Given the description of an element on the screen output the (x, y) to click on. 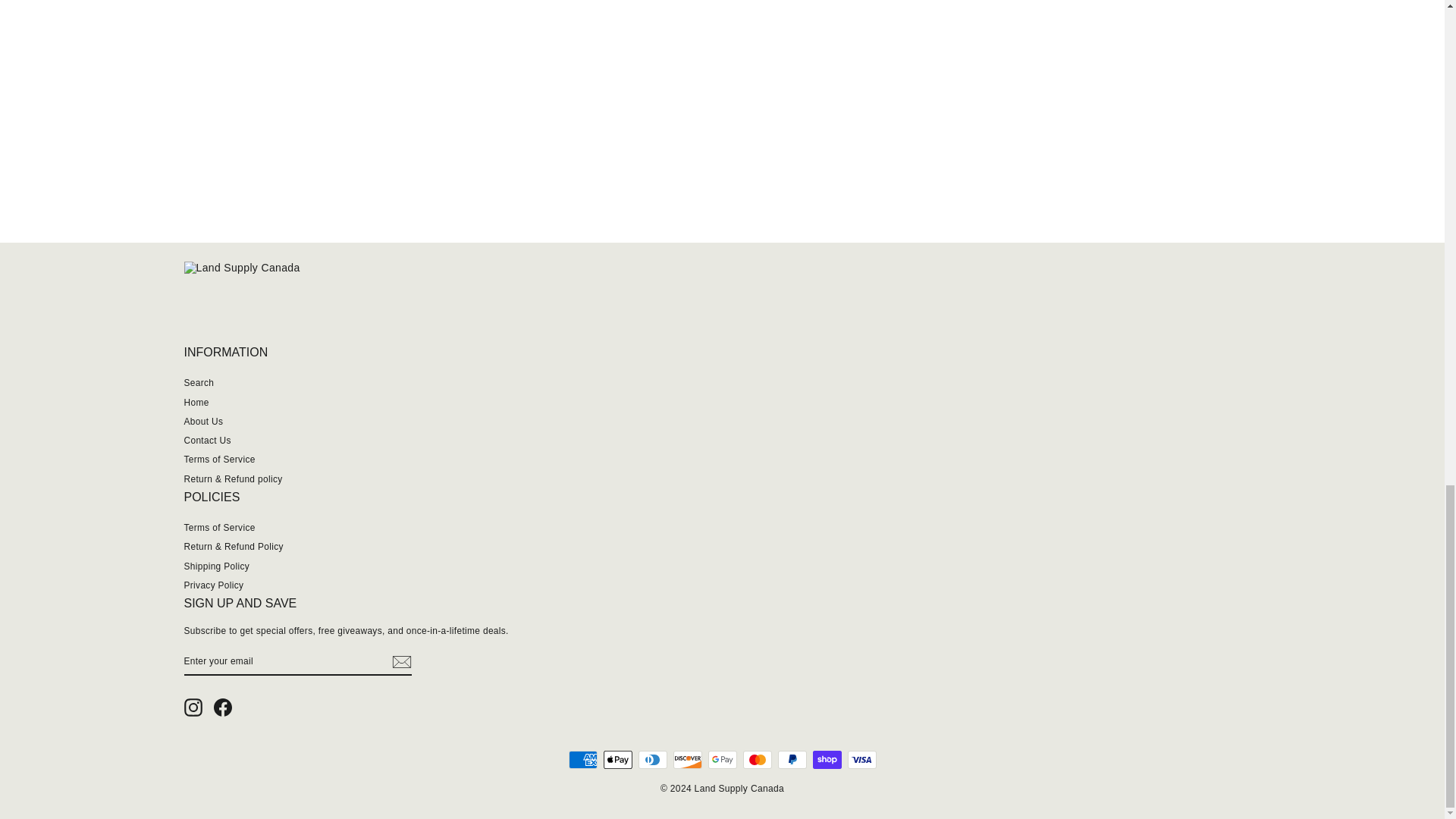
Apple Pay (617, 760)
Land Supply Canada on Instagram (192, 707)
Land Supply Canada on Facebook (222, 707)
Google Pay (721, 760)
Diners Club (652, 760)
American Express (582, 760)
Discover (686, 760)
Mastercard (756, 760)
